Given the description of an element on the screen output the (x, y) to click on. 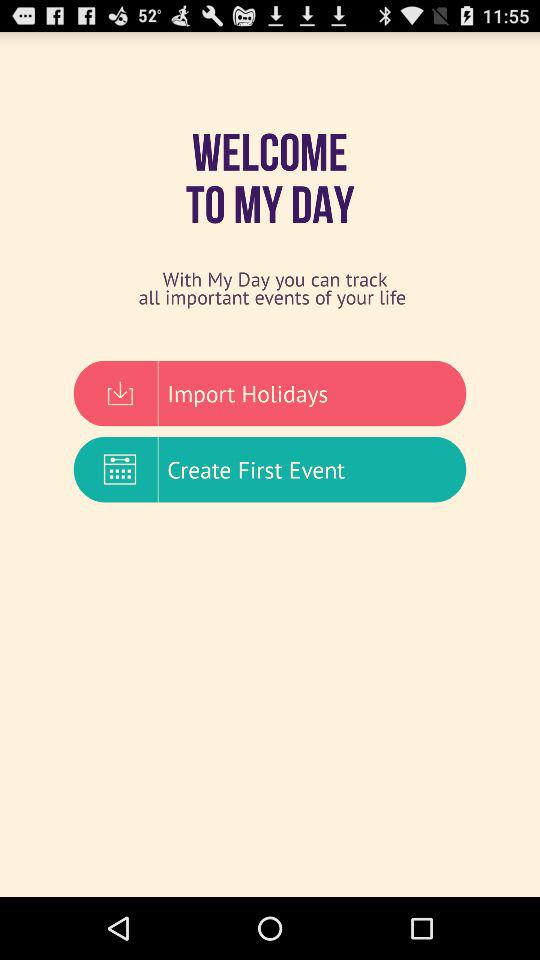
jump until import holidays (269, 393)
